Given the description of an element on the screen output the (x, y) to click on. 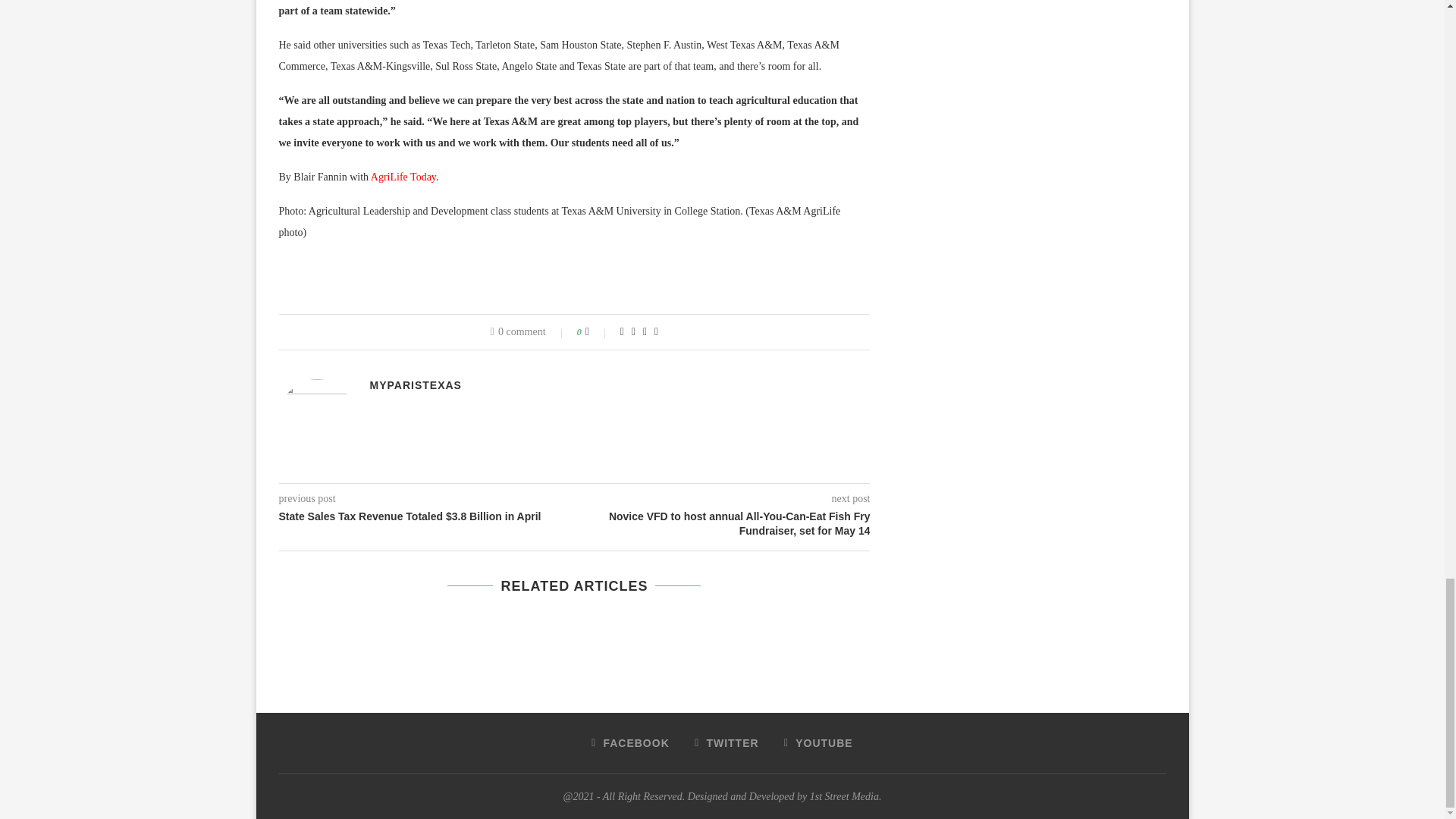
Posts by MyParisTexas (415, 385)
Like (597, 331)
